Given the description of an element on the screen output the (x, y) to click on. 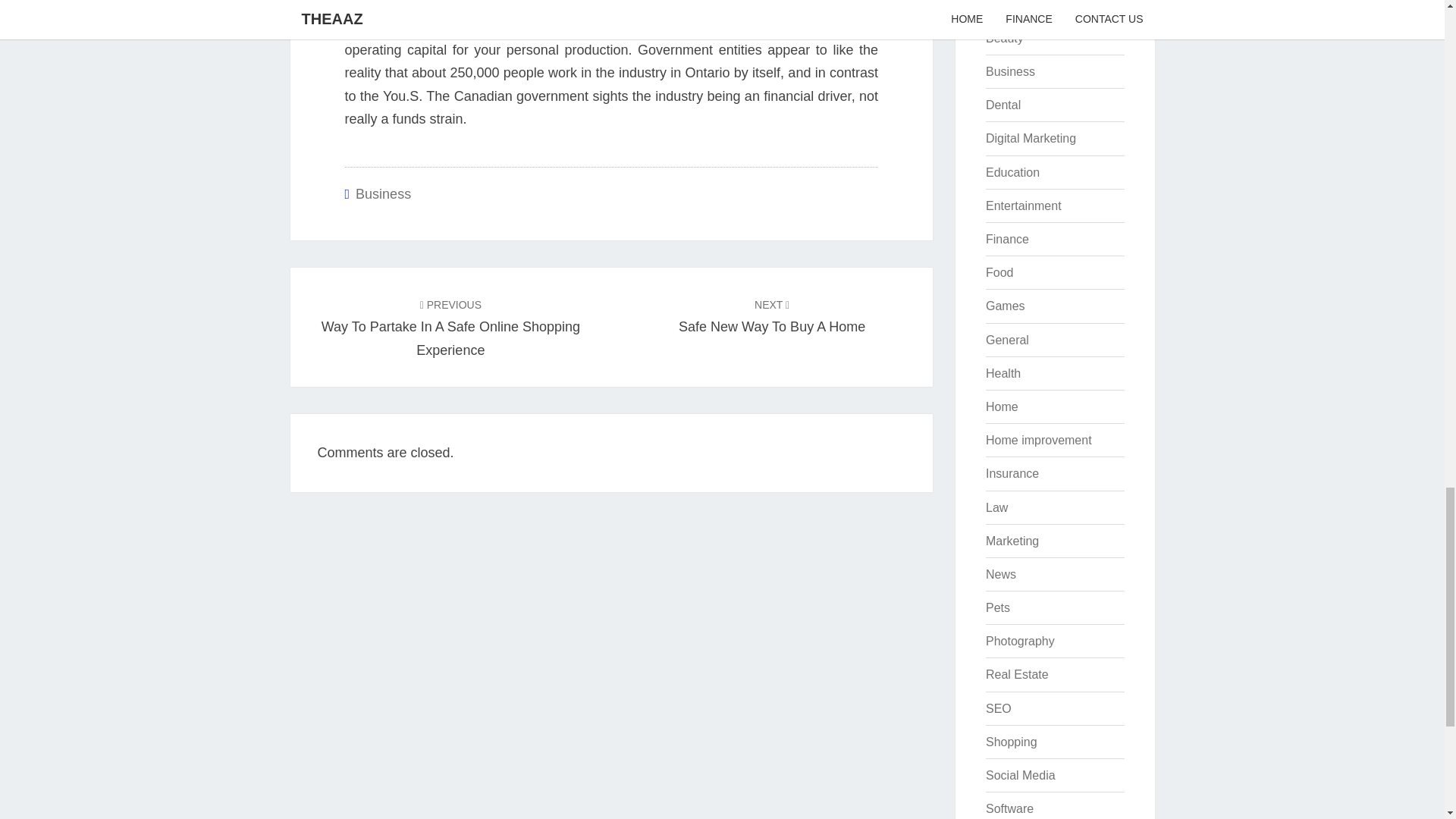
Dental (1002, 104)
Insurance (1012, 472)
Photography (1019, 640)
Digital Marketing (1030, 137)
Health (1002, 373)
News (1000, 574)
Finance (450, 326)
Entertainment (1007, 238)
Business (1023, 205)
Real Estate (1010, 71)
Law (1016, 674)
Business (996, 507)
Home improvement (382, 193)
